Given the description of an element on the screen output the (x, y) to click on. 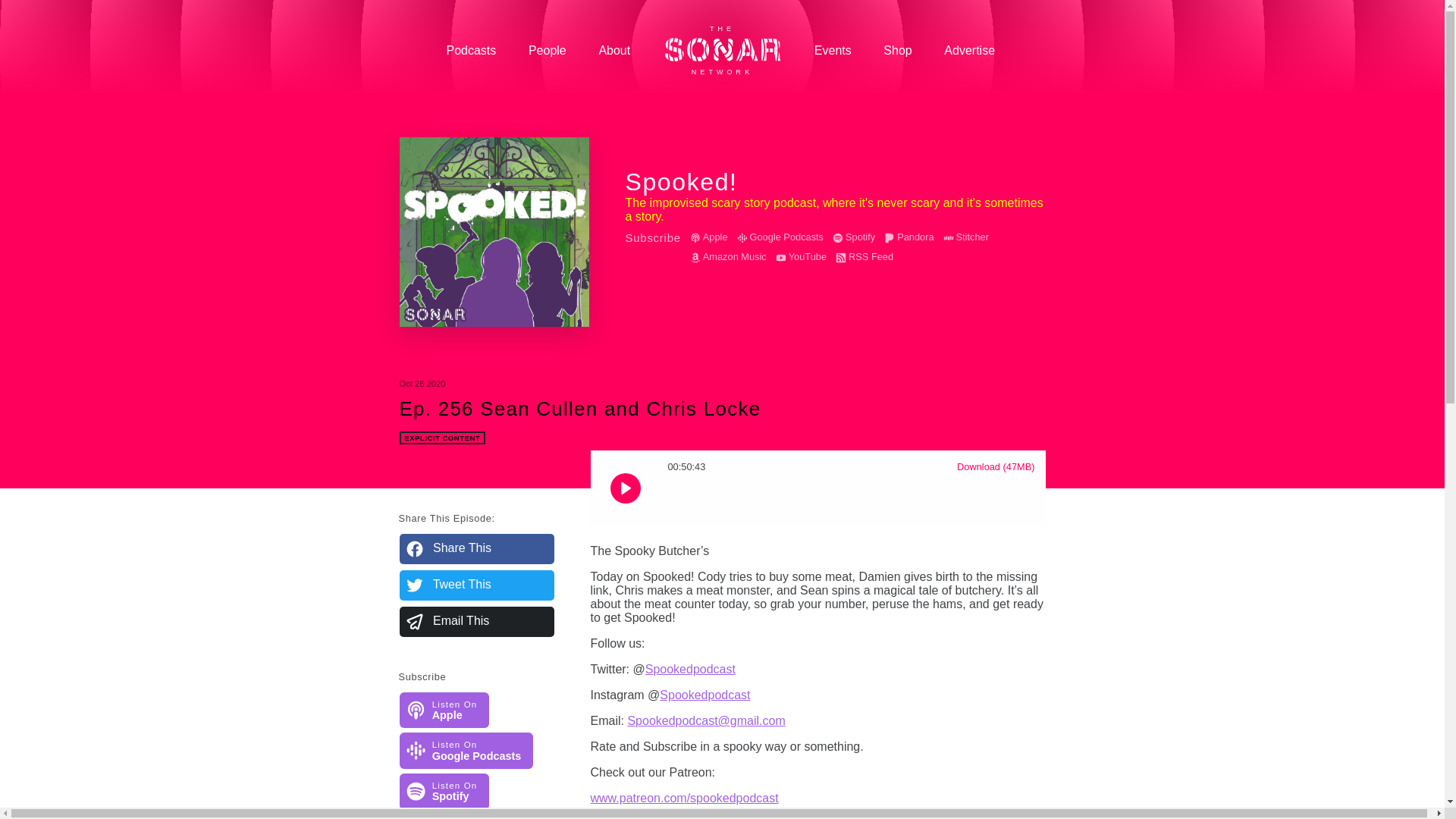
Shop (897, 50)
Email This (475, 621)
Spooked! (493, 231)
Advertise (443, 710)
About (969, 50)
Spotify (614, 50)
Pandora (853, 237)
People (908, 237)
